Given the description of an element on the screen output the (x, y) to click on. 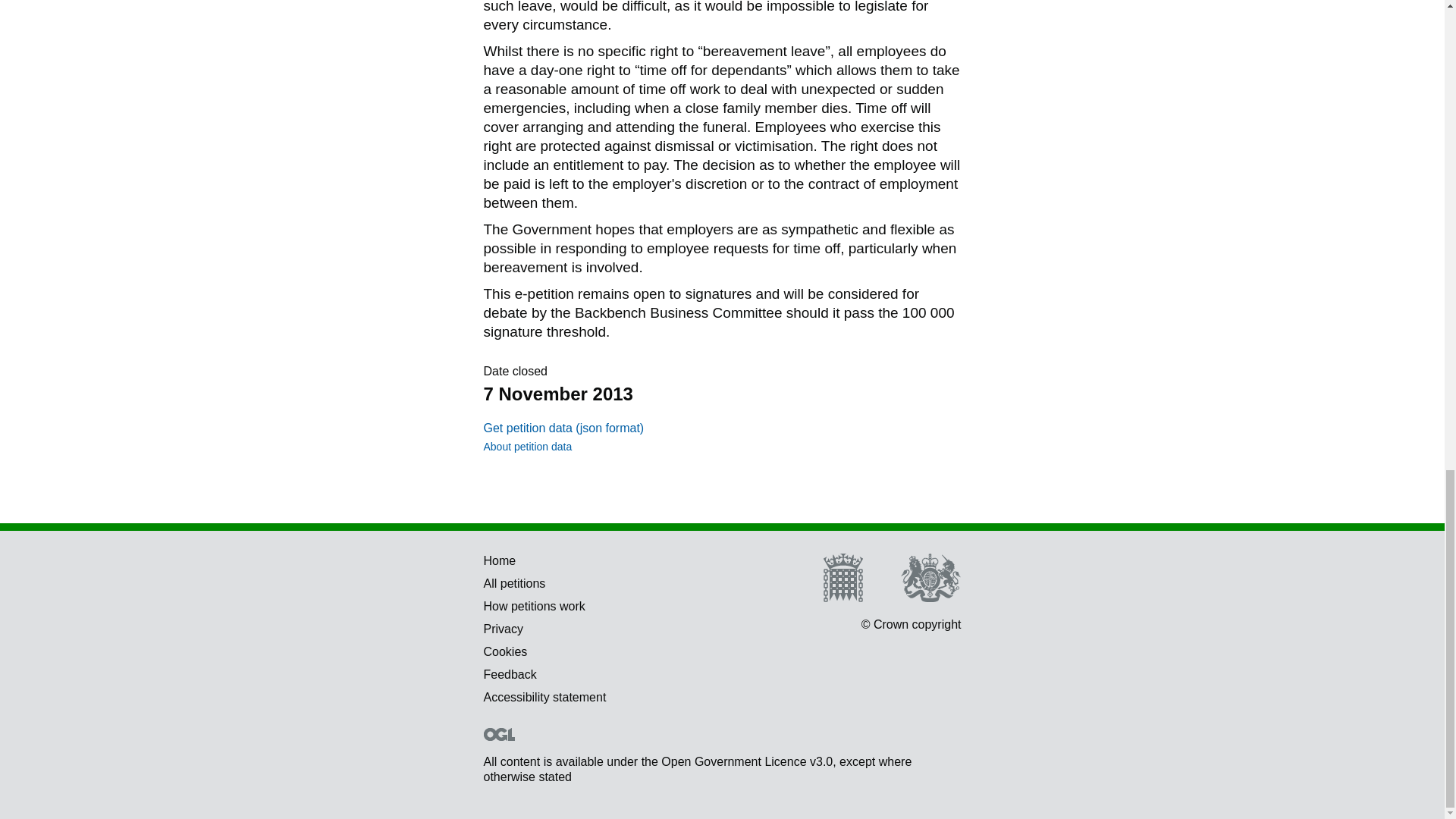
Accessibility statement (545, 697)
Privacy (502, 628)
Cookies (505, 651)
All petitions (514, 583)
Feedback (510, 674)
Open Government Licence v3.0 (746, 761)
How petitions work (534, 605)
Home (499, 560)
Open Government Licence (499, 734)
